Given the description of an element on the screen output the (x, y) to click on. 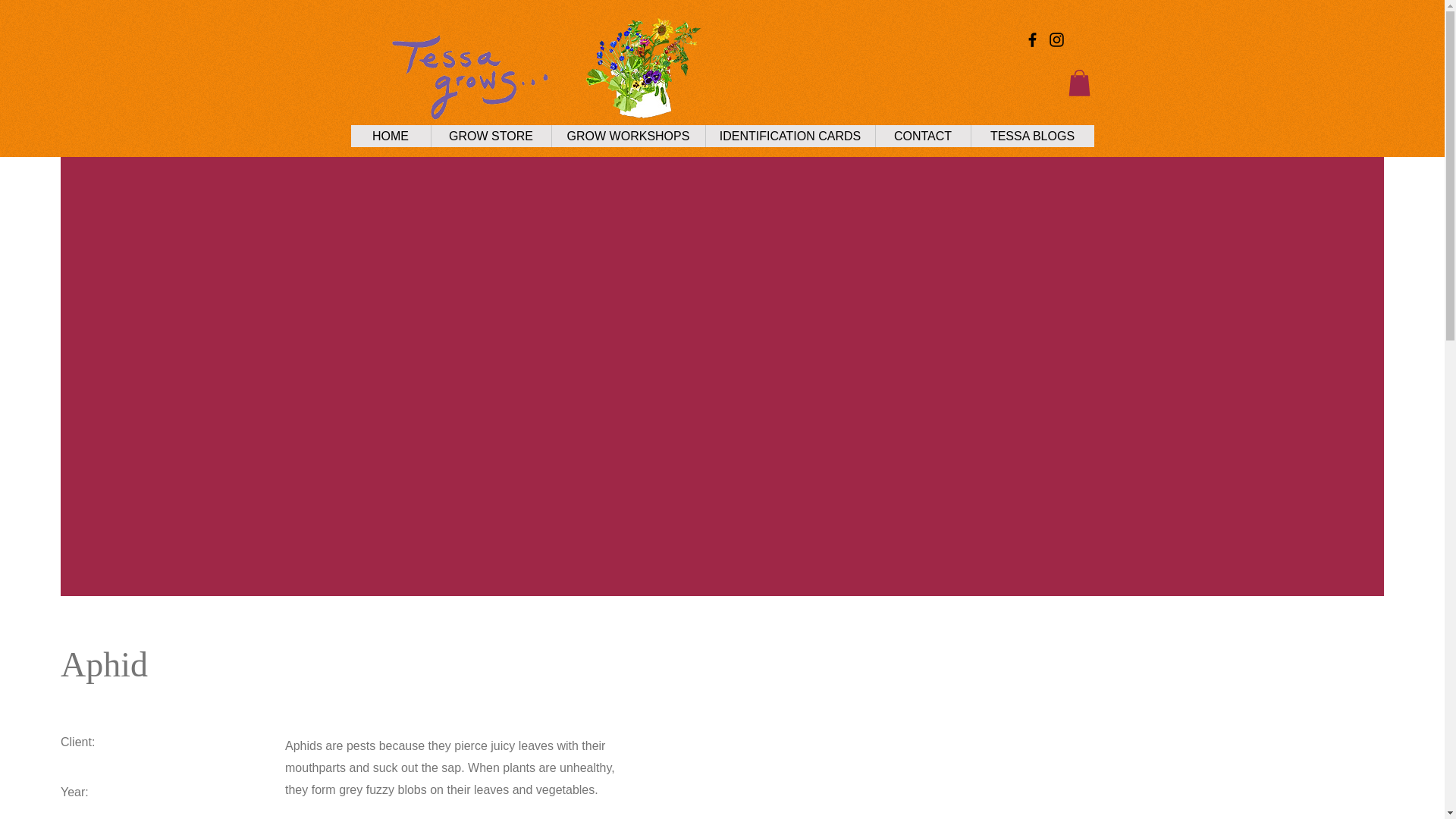
GROW WORKSHOPS (627, 136)
HOME (389, 136)
CONTACT (923, 136)
IDENTIFICATION CARDS (789, 136)
GROW STORE (490, 136)
TESSA BLOGS (1032, 136)
